Given the description of an element on the screen output the (x, y) to click on. 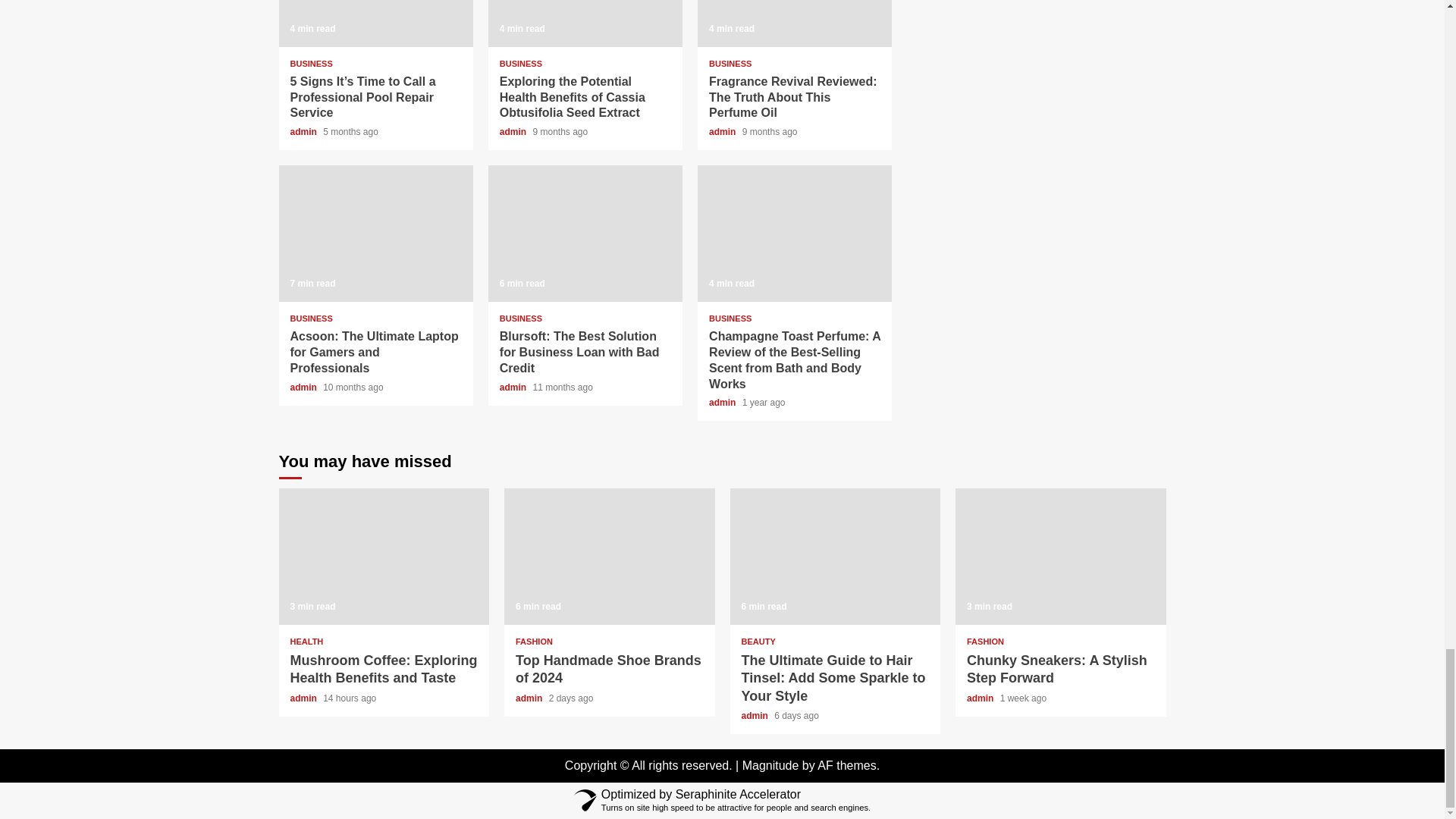
admin (303, 131)
BUSINESS (310, 63)
